Given the description of an element on the screen output the (x, y) to click on. 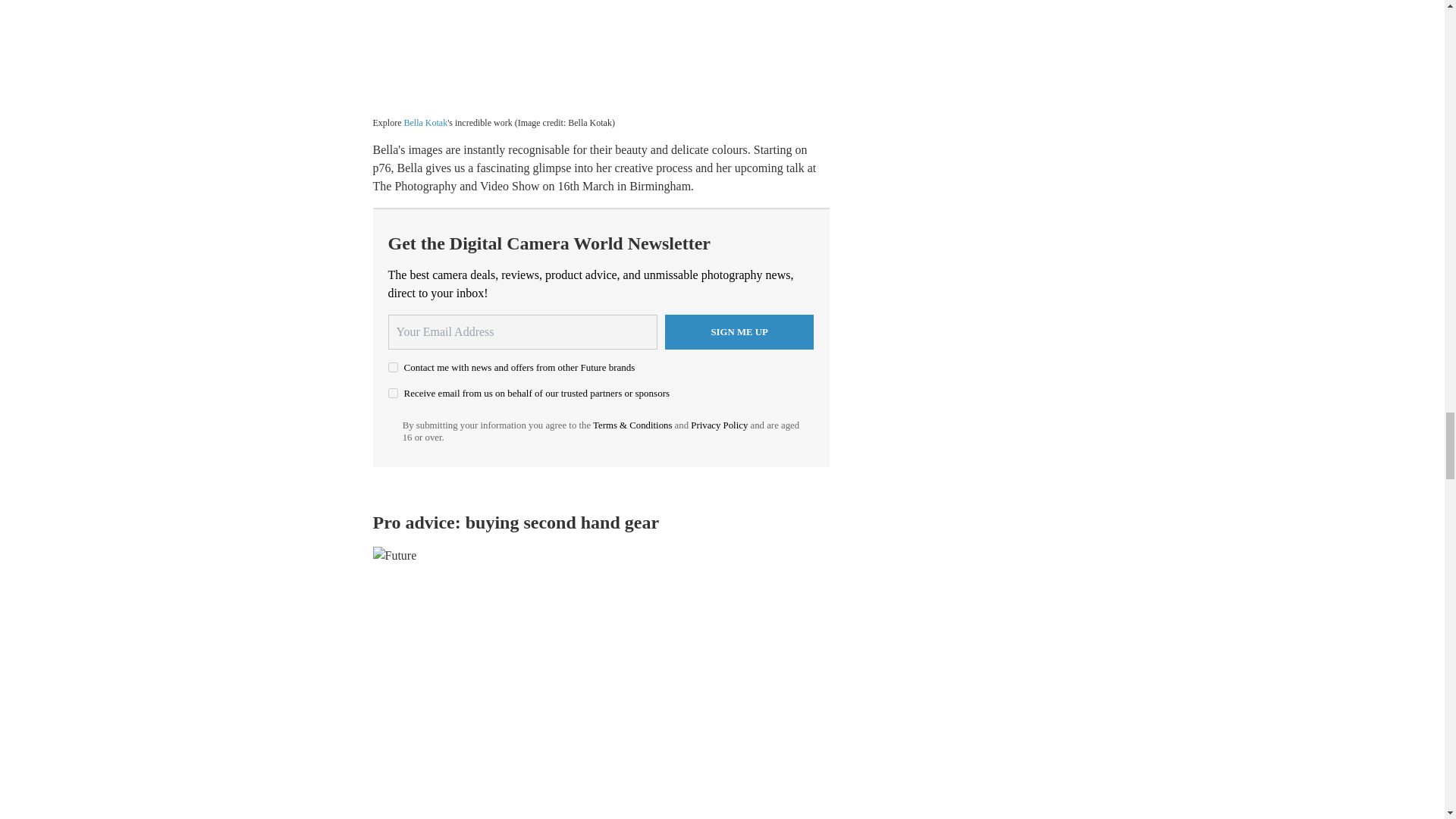
on (392, 393)
Sign me up (739, 331)
on (392, 367)
